Given the description of an element on the screen output the (x, y) to click on. 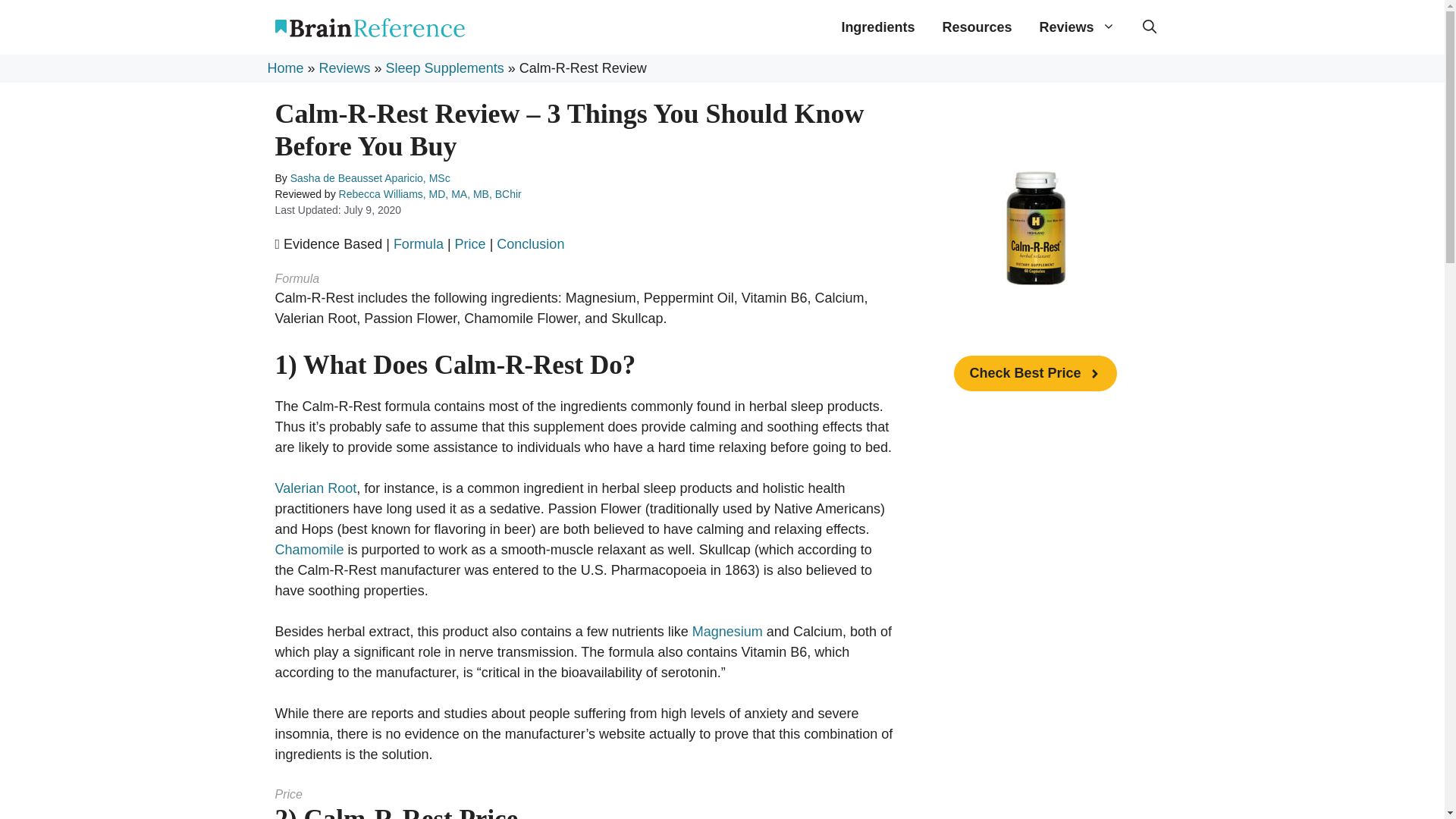
Resources (976, 26)
Ingredients (877, 26)
Reviews (1076, 26)
Chamomile (309, 549)
Home (284, 68)
Magnesium (727, 631)
Chamomile (309, 549)
Valerian Root (315, 488)
Sasha de Beausset Aparicio, MSc (369, 177)
Valerian Root (315, 488)
Formula (418, 243)
Reviews (344, 68)
Price (470, 243)
Magnesium (727, 631)
Rebecca Williams, MD, MA, MB, BChir (430, 193)
